Given the description of an element on the screen output the (x, y) to click on. 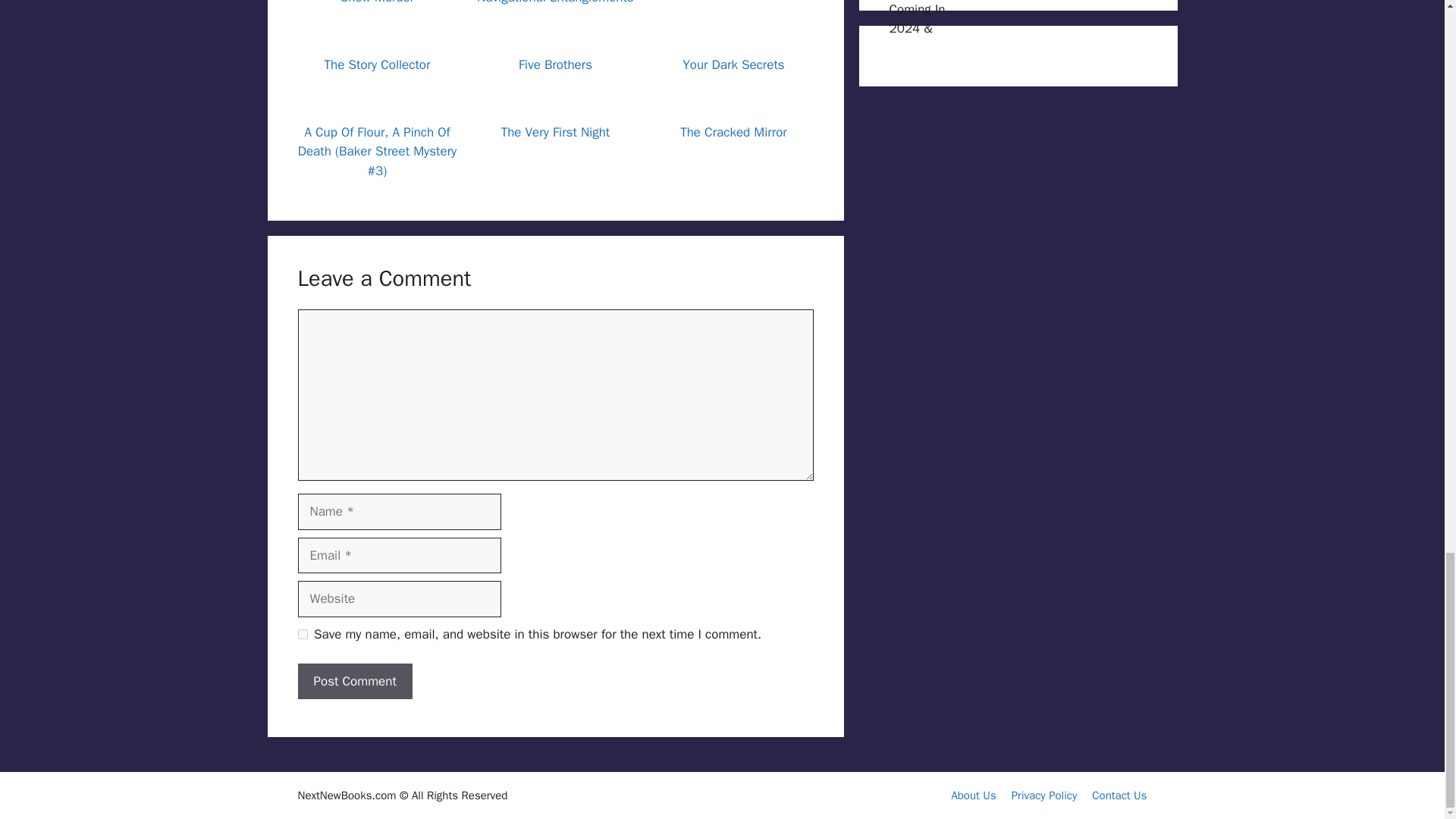
Post Comment (354, 681)
yes (302, 634)
